Given the description of an element on the screen output the (x, y) to click on. 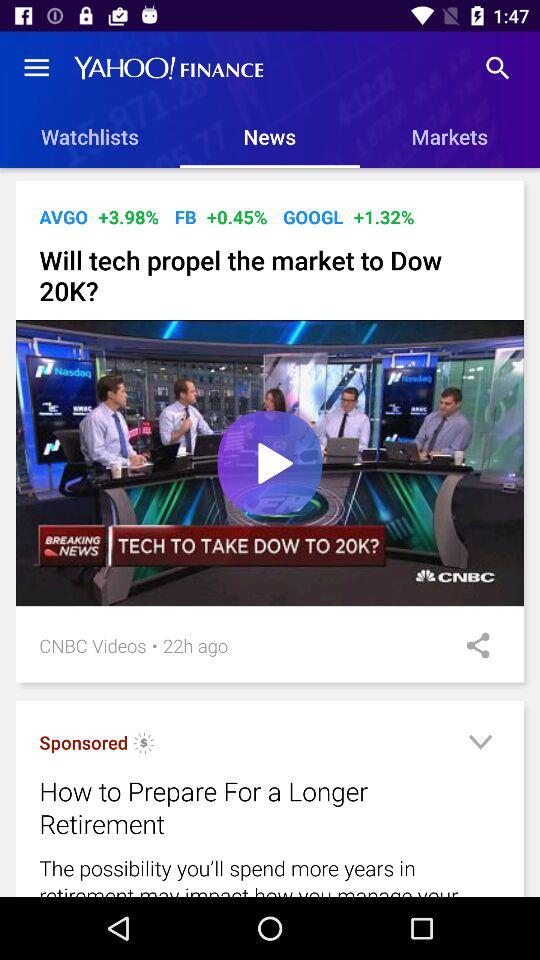
flip to the +0.45% (236, 216)
